Given the description of an element on the screen output the (x, y) to click on. 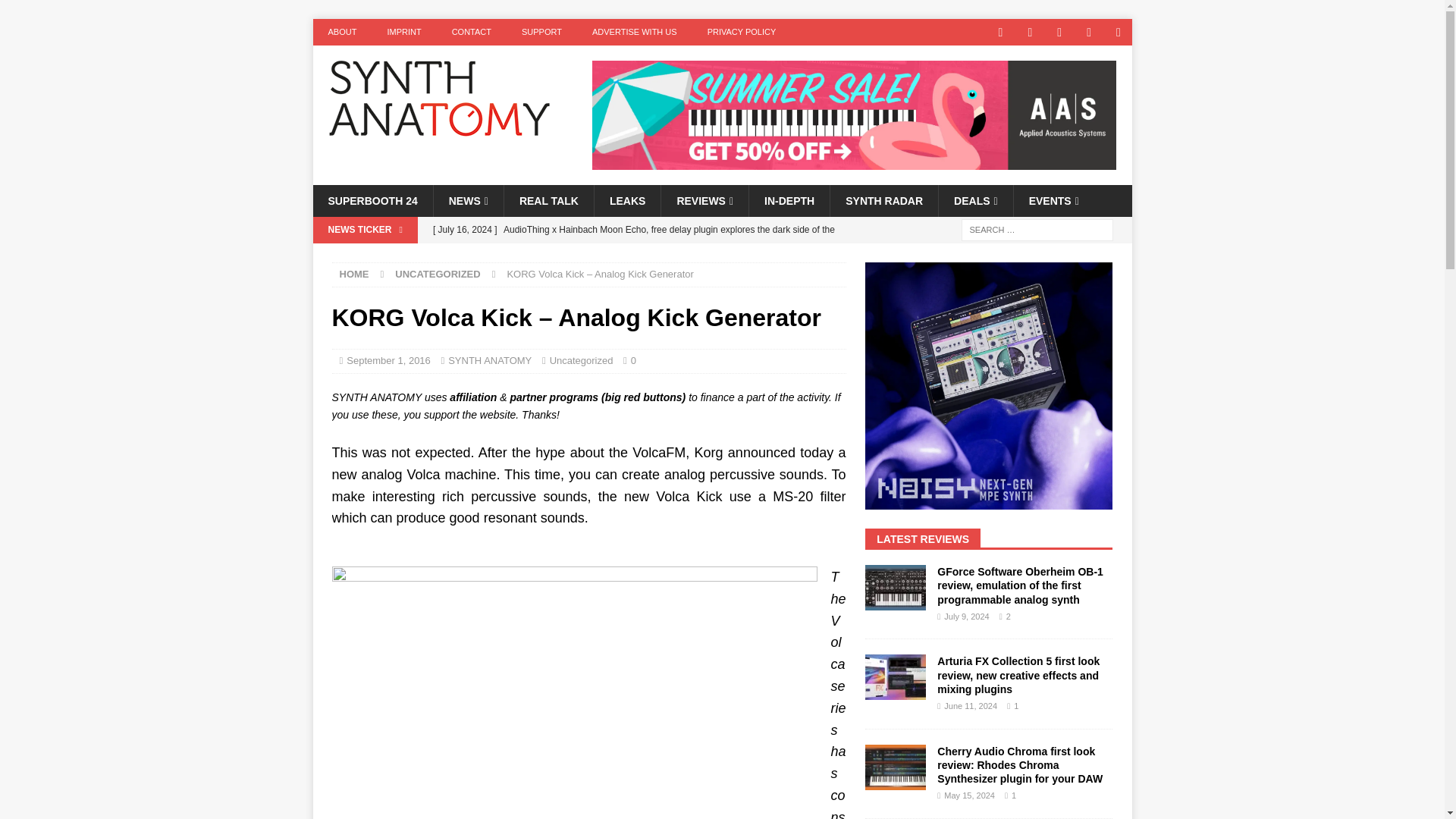
ABOUT (342, 31)
ADVERTISE WITH US (634, 31)
CONTACT (471, 31)
PRIVACY POLICY (742, 31)
SUPPORT (541, 31)
IMPRINT (403, 31)
